Given the description of an element on the screen output the (x, y) to click on. 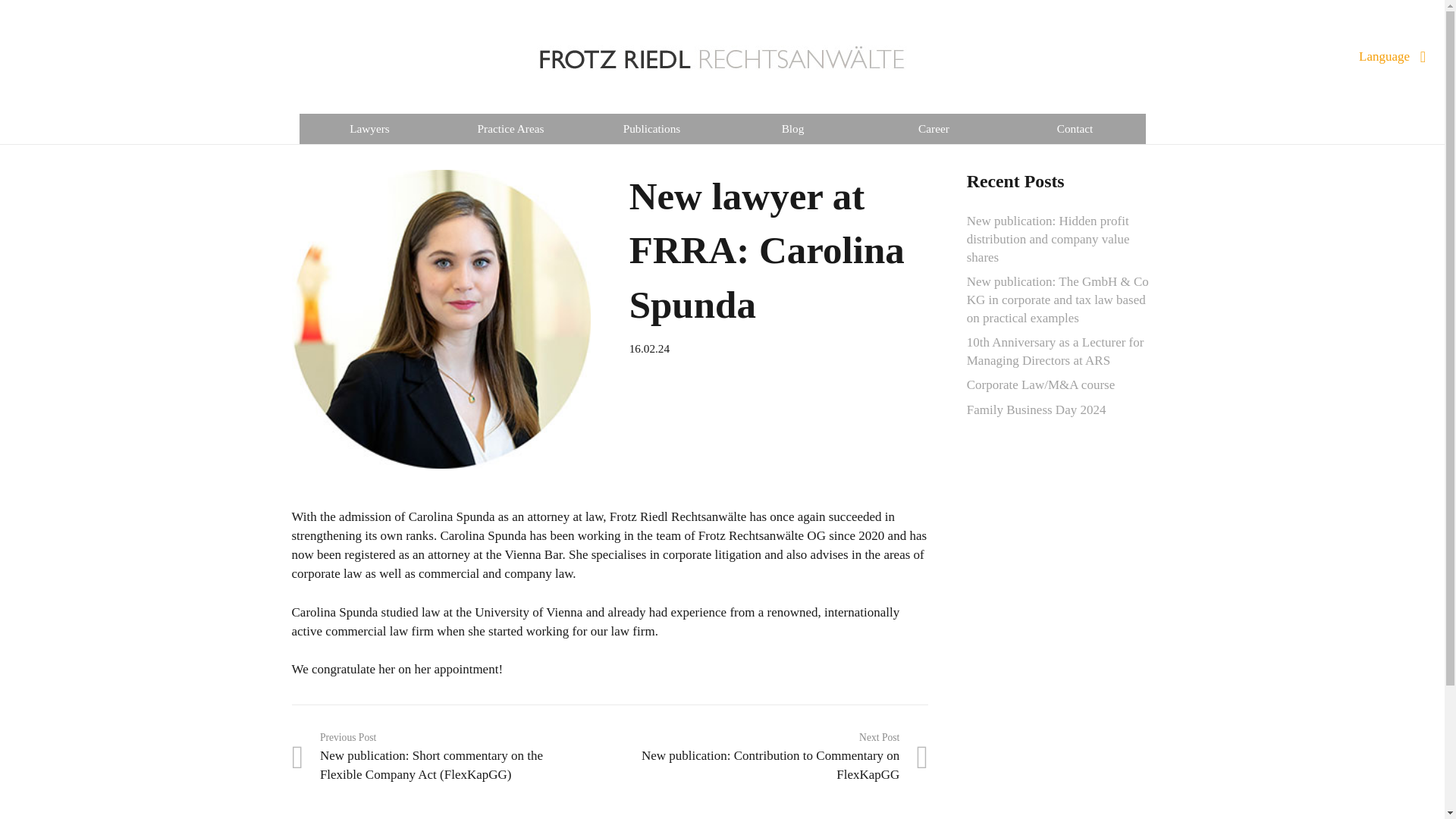
Language (1391, 56)
Practice Areas (509, 128)
Blog (792, 128)
10th Anniversary as a Lecturer for Managing Directors at ARS (1055, 350)
Family Business Day 2024 (1036, 409)
Publications (651, 128)
Lawyers (368, 128)
Career (933, 128)
